Given the description of an element on the screen output the (x, y) to click on. 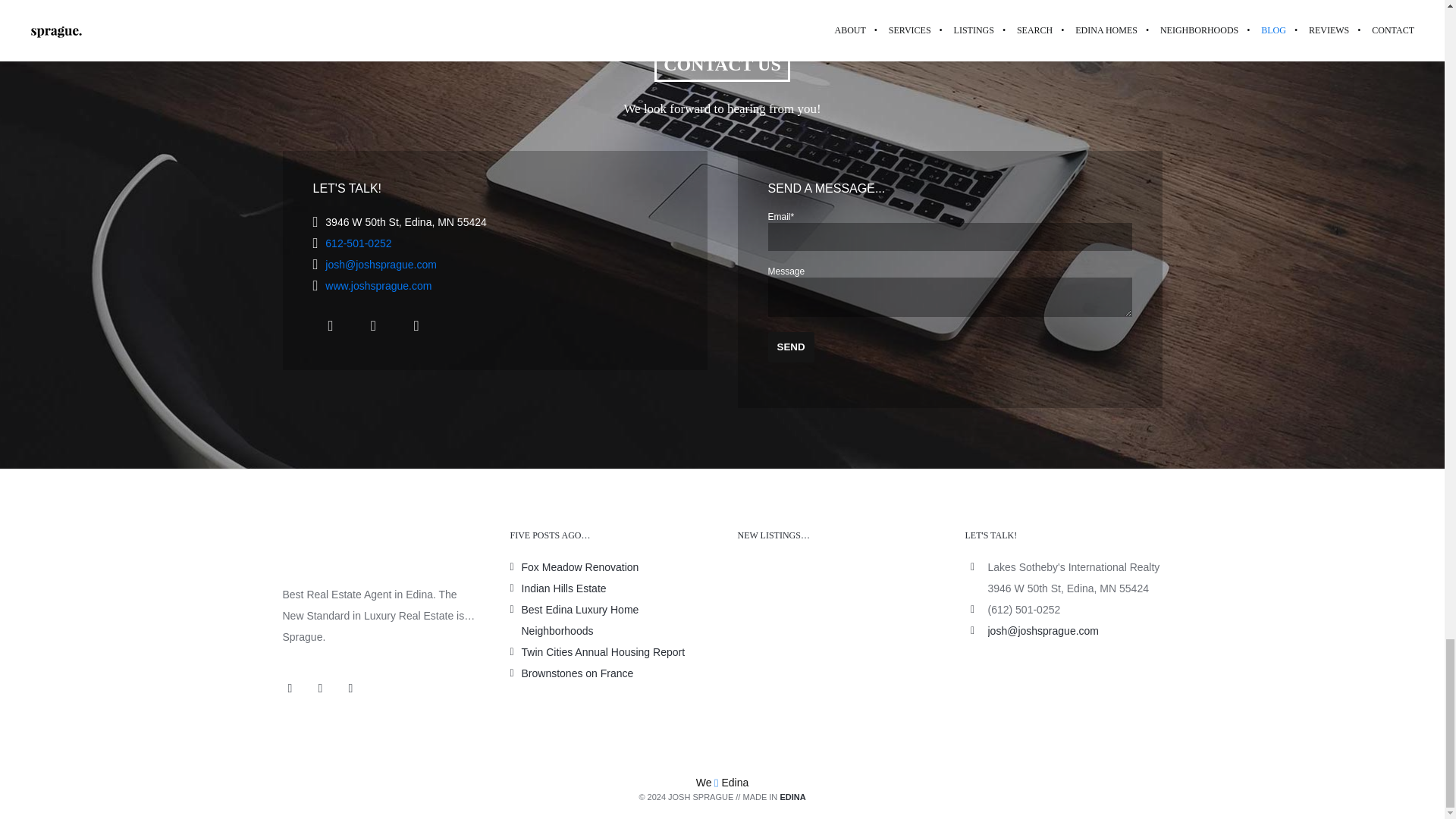
Send (790, 347)
